Given the description of an element on the screen output the (x, y) to click on. 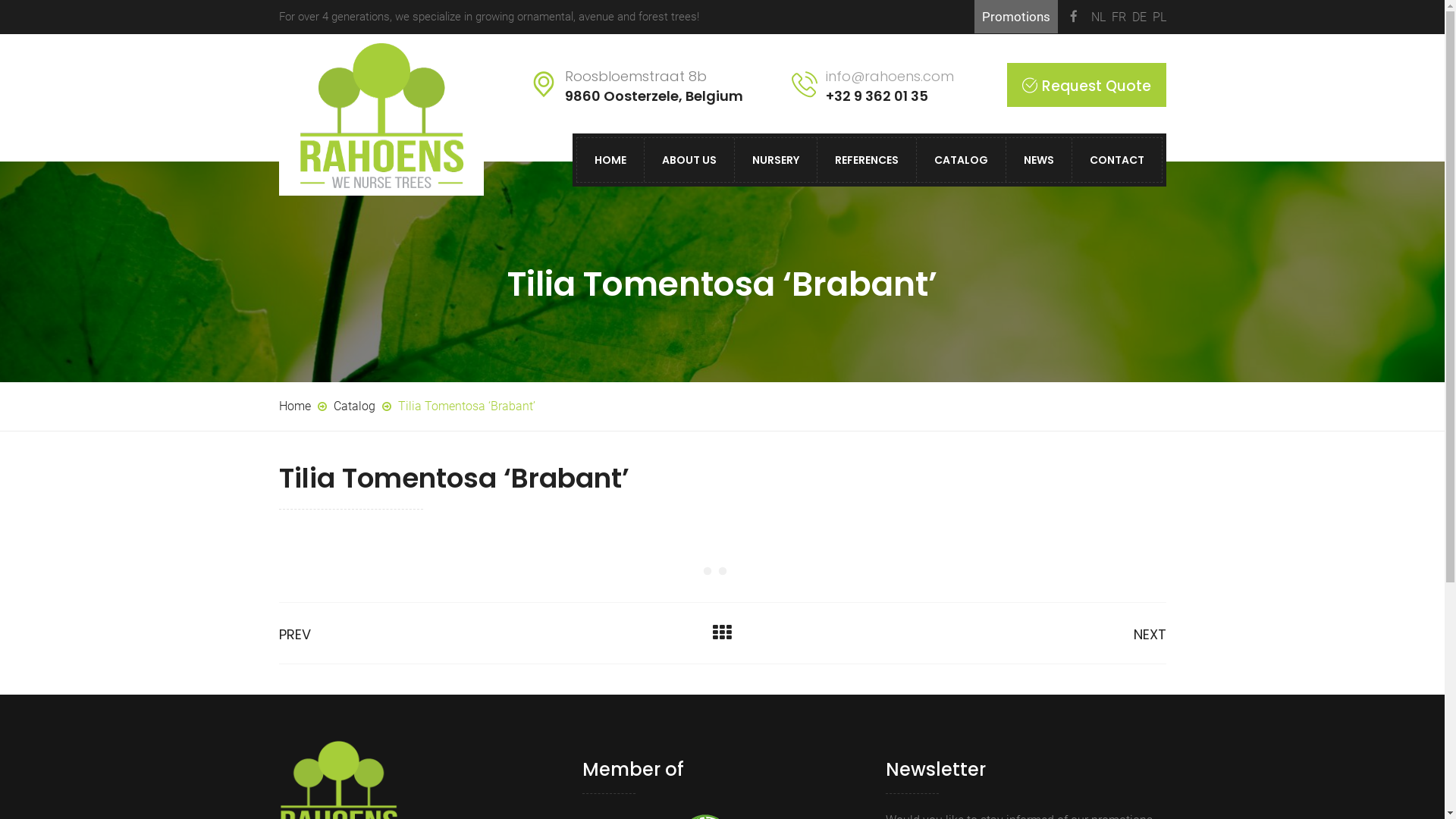
Home Element type: text (294, 405)
Promotions Element type: text (1015, 16)
FR Element type: text (1118, 16)
NURSERY Element type: text (775, 159)
Request Quote Element type: text (1086, 84)
NL Element type: text (1097, 16)
NEXT Element type: text (1148, 633)
REFERENCES Element type: text (865, 159)
HOME Element type: text (610, 159)
Catalog Element type: text (354, 405)
CATALOG Element type: text (961, 159)
PL Element type: text (1159, 16)
ABOUT US Element type: text (688, 159)
DE Element type: text (1138, 16)
info@rahoens.com Element type: text (889, 75)
PREV Element type: text (294, 633)
CONTACT Element type: text (1115, 159)
NEWS Element type: text (1038, 159)
